Given the description of an element on the screen output the (x, y) to click on. 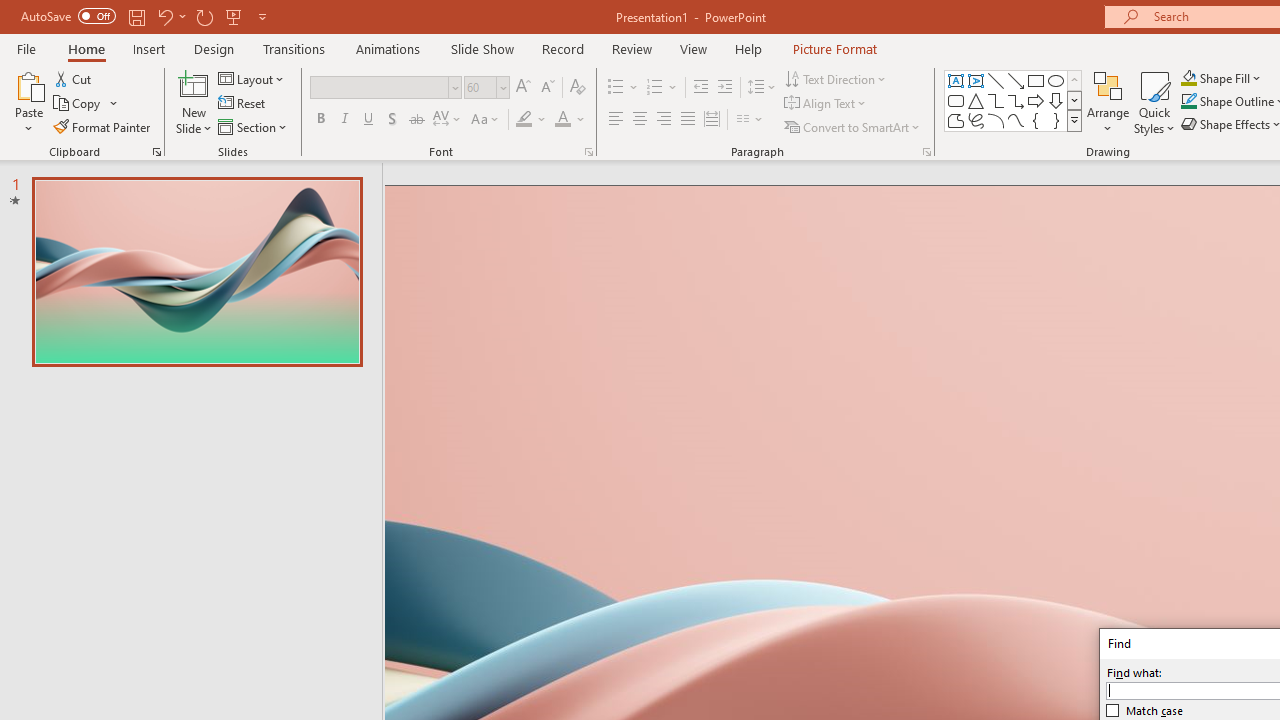
Convert to SmartArt (853, 126)
Line Spacing (762, 87)
Increase Font Size (522, 87)
Bold (320, 119)
Reset (243, 103)
Character Spacing (447, 119)
